Given the description of an element on the screen output the (x, y) to click on. 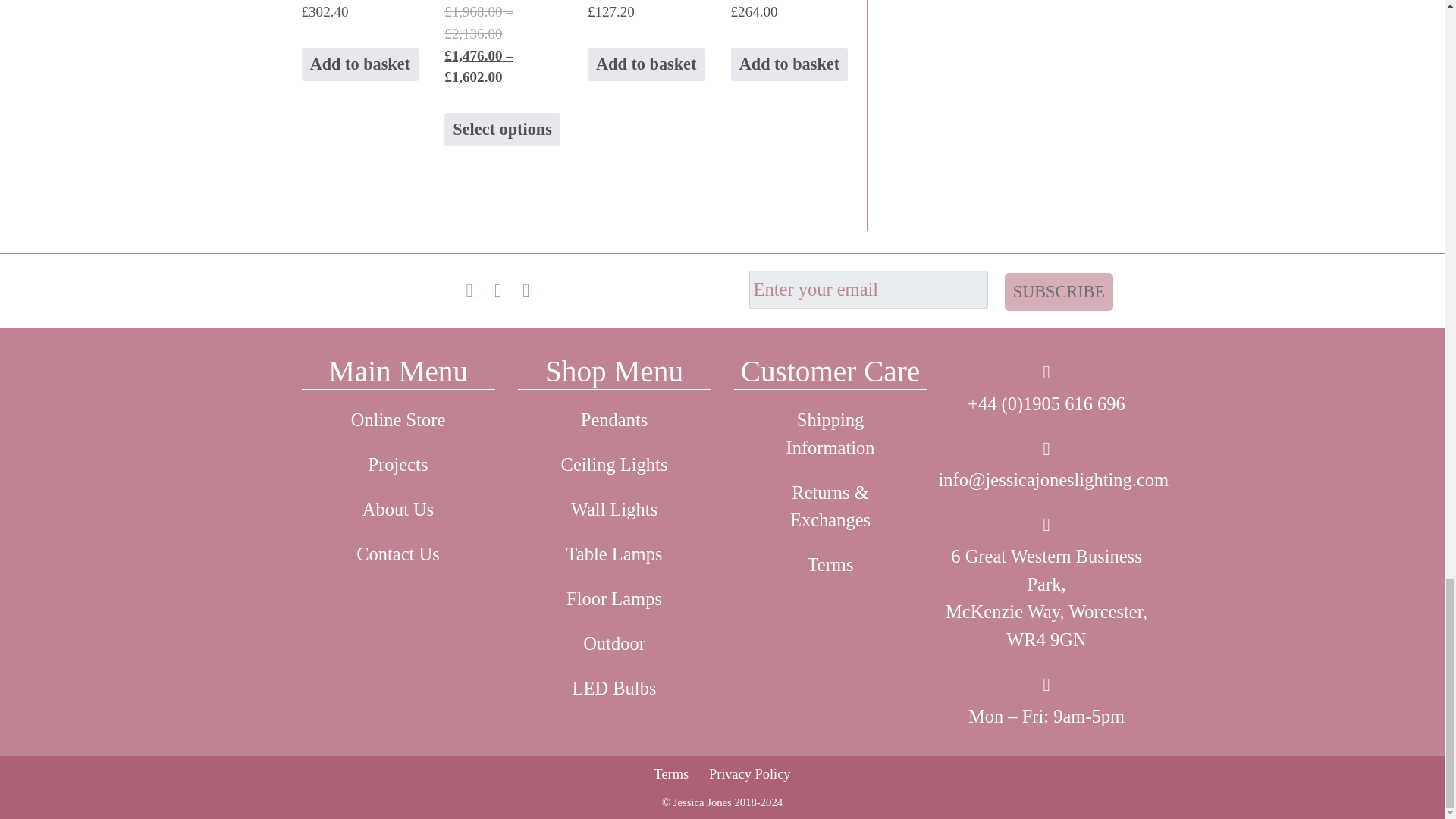
Add to basket (646, 64)
Select options (502, 130)
Contact Us (398, 554)
About Us (398, 509)
Projects (398, 465)
Add to basket (360, 64)
Online Store (398, 420)
